Given the description of an element on the screen output the (x, y) to click on. 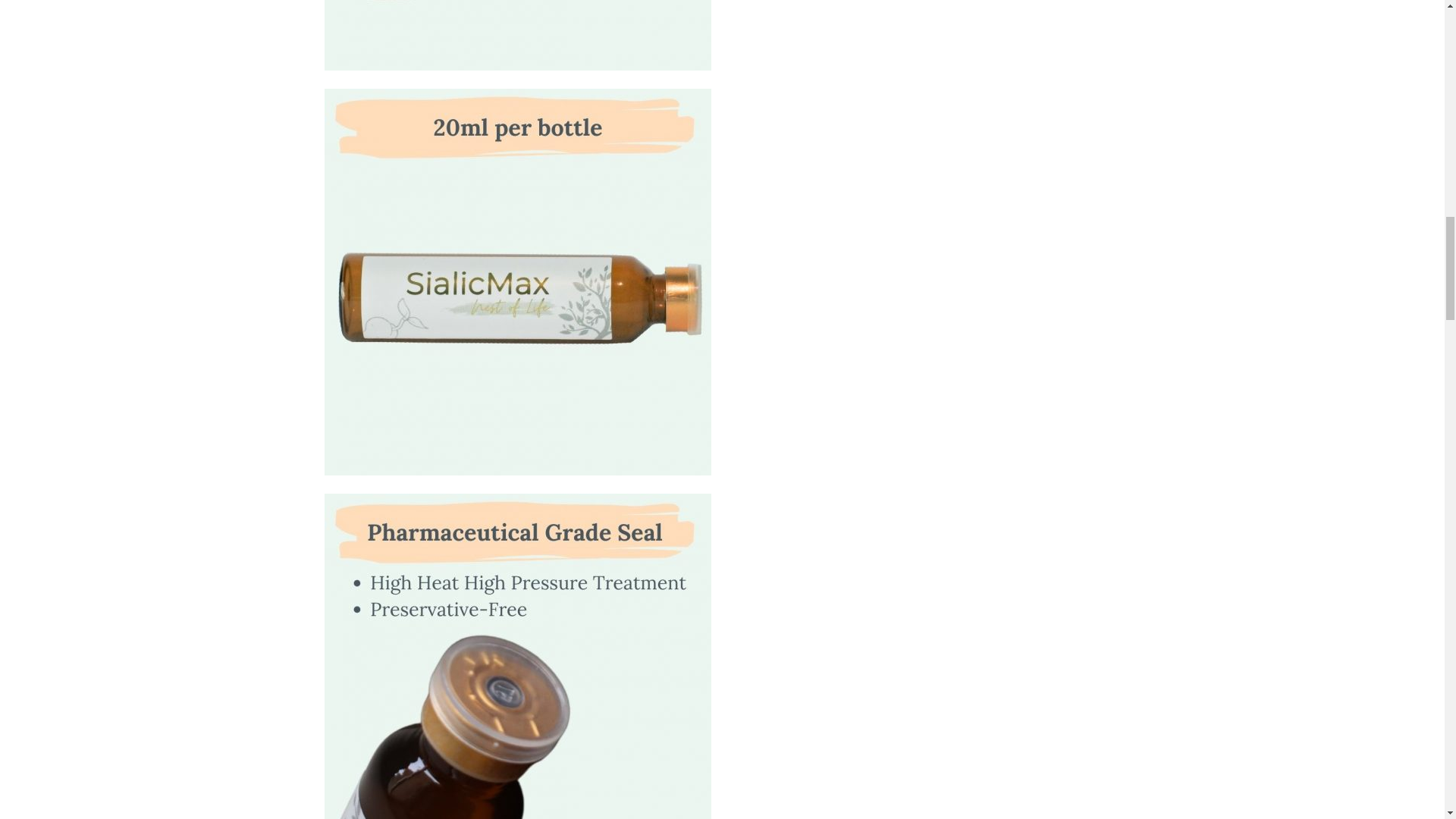
8 (517, 656)
11 (517, 35)
